Given the description of an element on the screen output the (x, y) to click on. 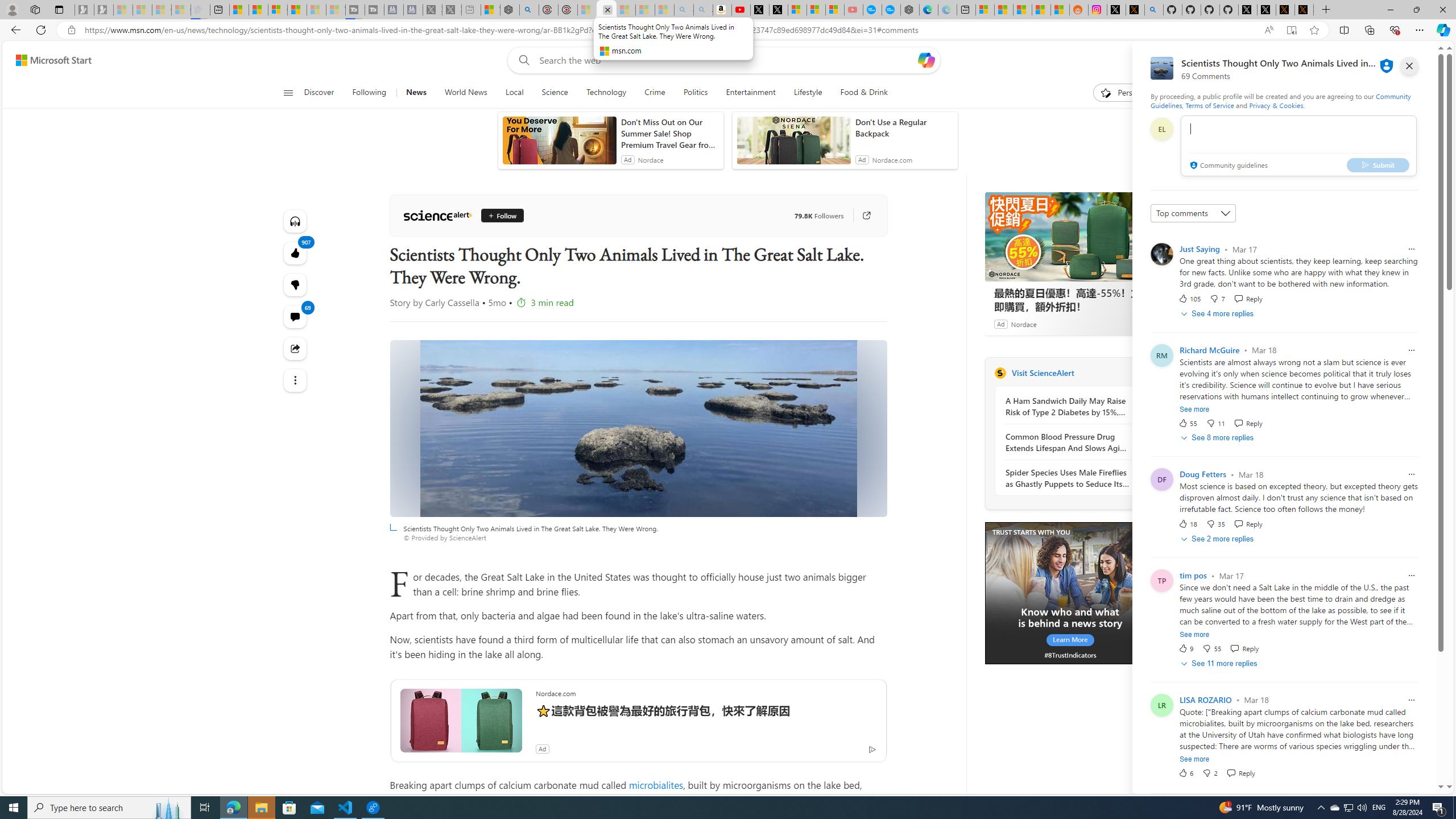
amazon - Search - Sleeping (683, 9)
Newsletter Sign Up - Sleeping (102, 9)
Open navigation menu (287, 92)
Visit ScienceAlert website (1140, 372)
Shanghai, China hourly forecast | Microsoft Weather (1022, 9)
Science (554, 92)
Nordace.com (892, 159)
Overview (277, 9)
